Given the description of an element on the screen output the (x, y) to click on. 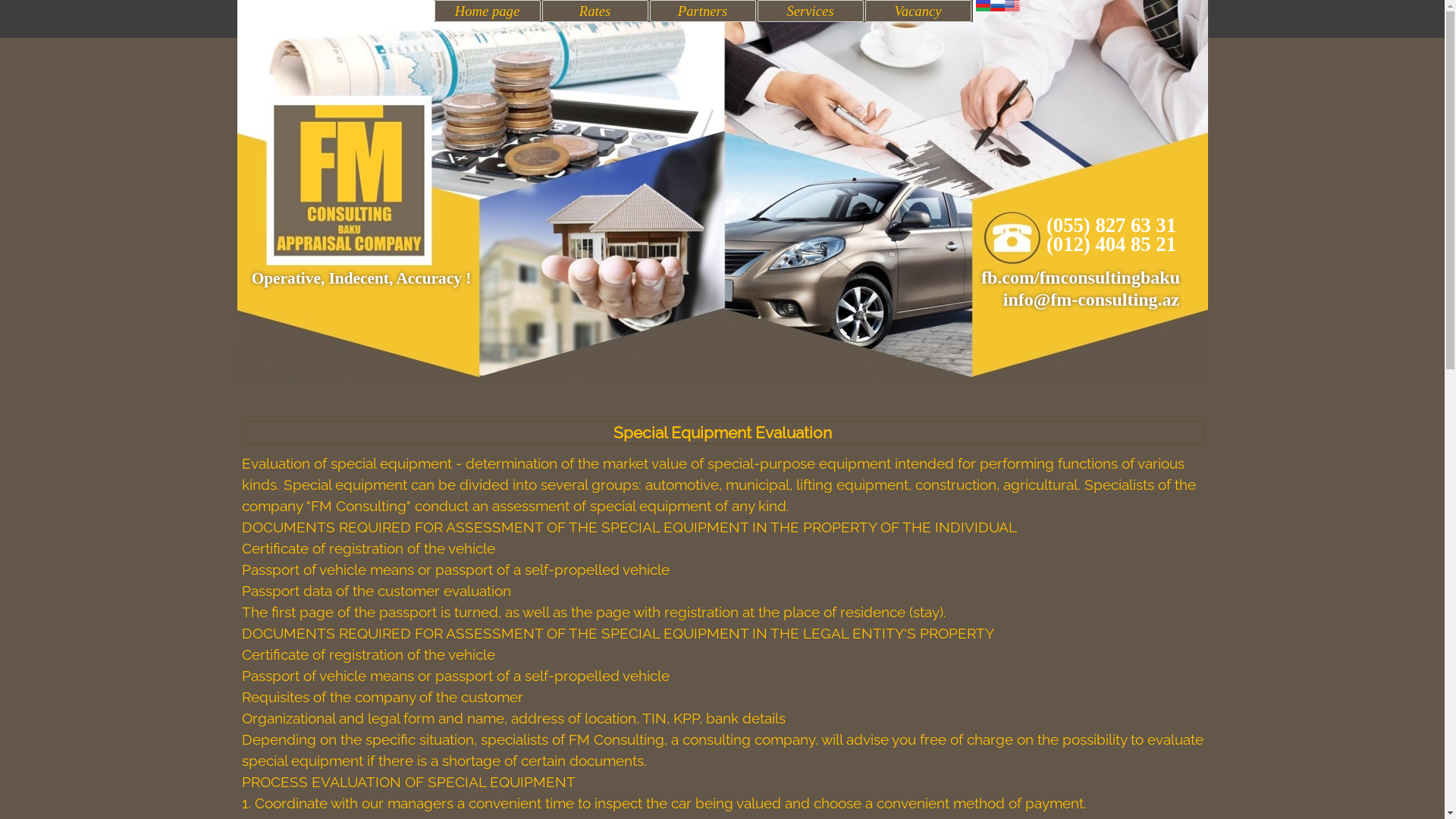
fb.com/fmconsultingbaku Element type: text (1080, 277)
RU Element type: hover (997, 5)
Rates Element type: text (594, 10)
Home page Element type: text (486, 10)
AZ Element type: hover (982, 5)
Vacancy Element type: text (917, 10)
info@fm-consulting.az Element type: text (1091, 299)
Services Element type: text (809, 10)
Partners Element type: text (701, 10)
